Given the description of an element on the screen output the (x, y) to click on. 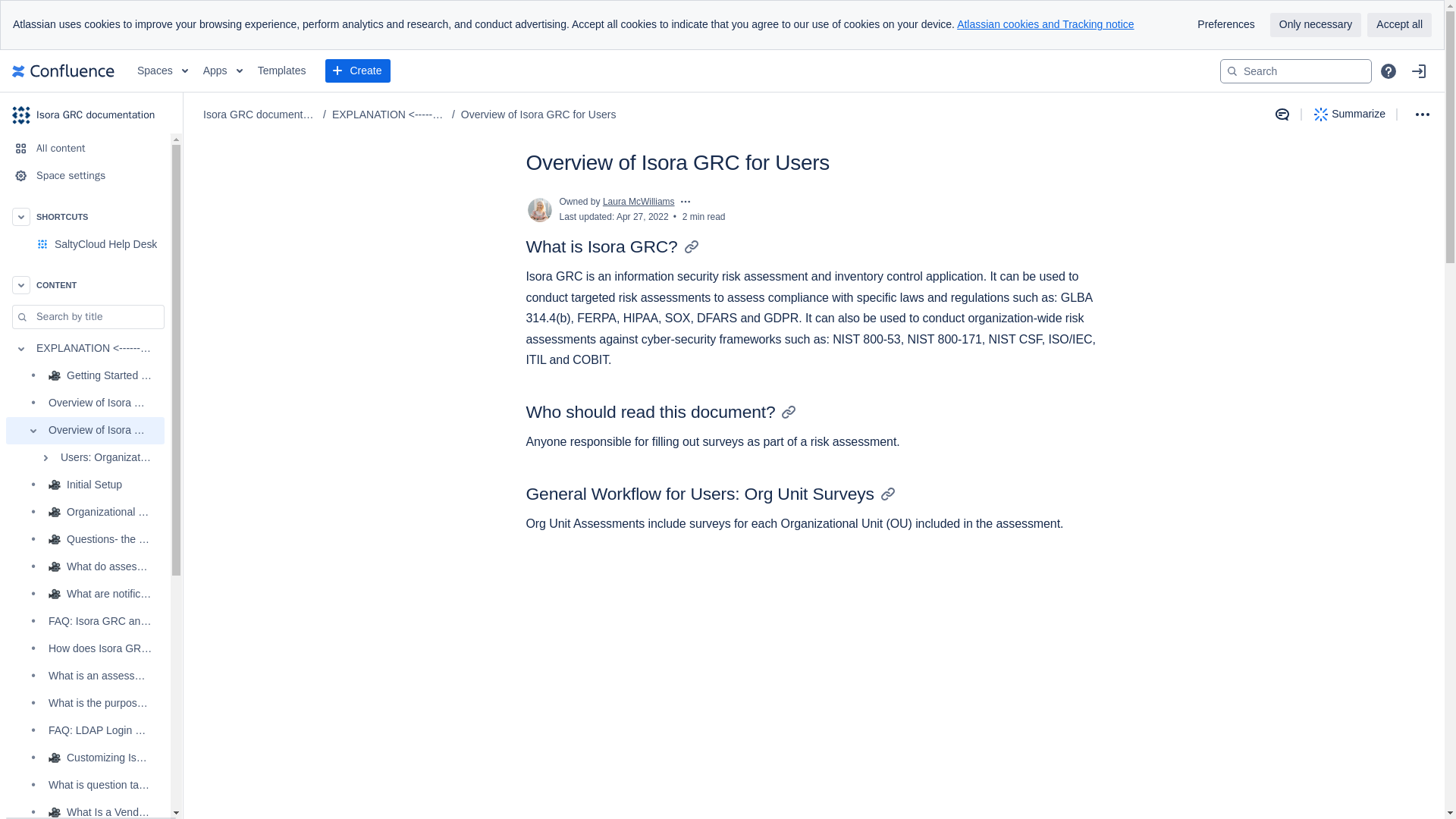
Space settings (84, 175)
Overview of Isora GRC for Users (84, 430)
All content (84, 148)
Spaces (162, 70)
Users: Organizational Assessments (84, 457)
Accept all (1399, 24)
CONTENT (84, 284)
Create (357, 70)
Preferences (1225, 24)
SaltyCloud Help Desk (106, 244)
Isora GRC documentation (90, 114)
Only necessary (1315, 24)
SHORTCUTS (84, 216)
Apps (222, 70)
Atlassian cookies and Tracking notice (1045, 24)
